Given the description of an element on the screen output the (x, y) to click on. 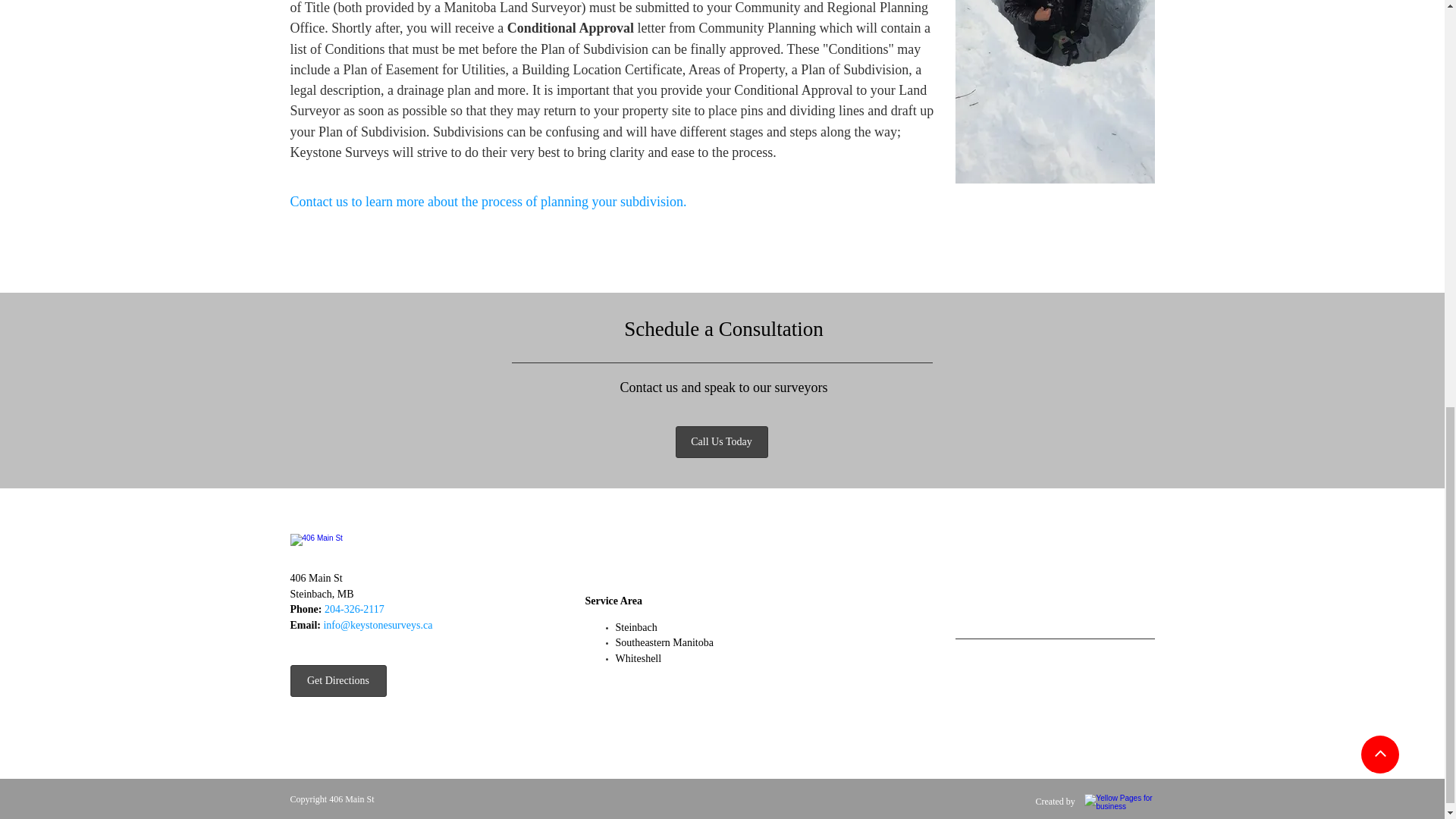
204-326-2117 (354, 609)
Call Us Today (721, 441)
406 Main St (351, 798)
Get Directions (337, 680)
